Given the description of an element on the screen output the (x, y) to click on. 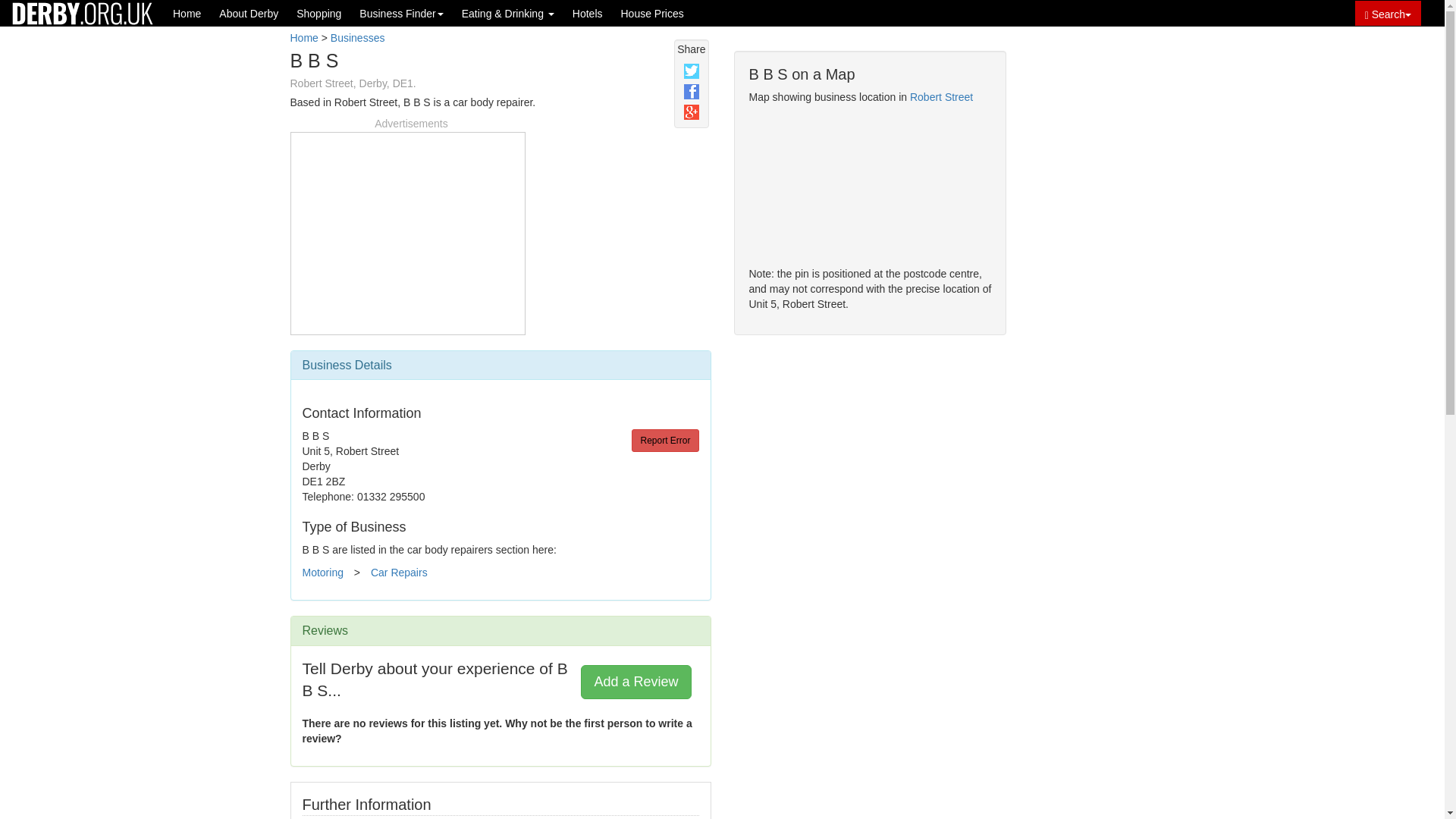
Businesses (357, 37)
Business Finder (400, 12)
Car Repairs (399, 572)
Add a Review (635, 681)
Report Error (664, 440)
Report Error (664, 440)
Shopping (318, 12)
About Derby (247, 12)
Motoring (321, 572)
Robert Street (941, 96)
